Given the description of an element on the screen output the (x, y) to click on. 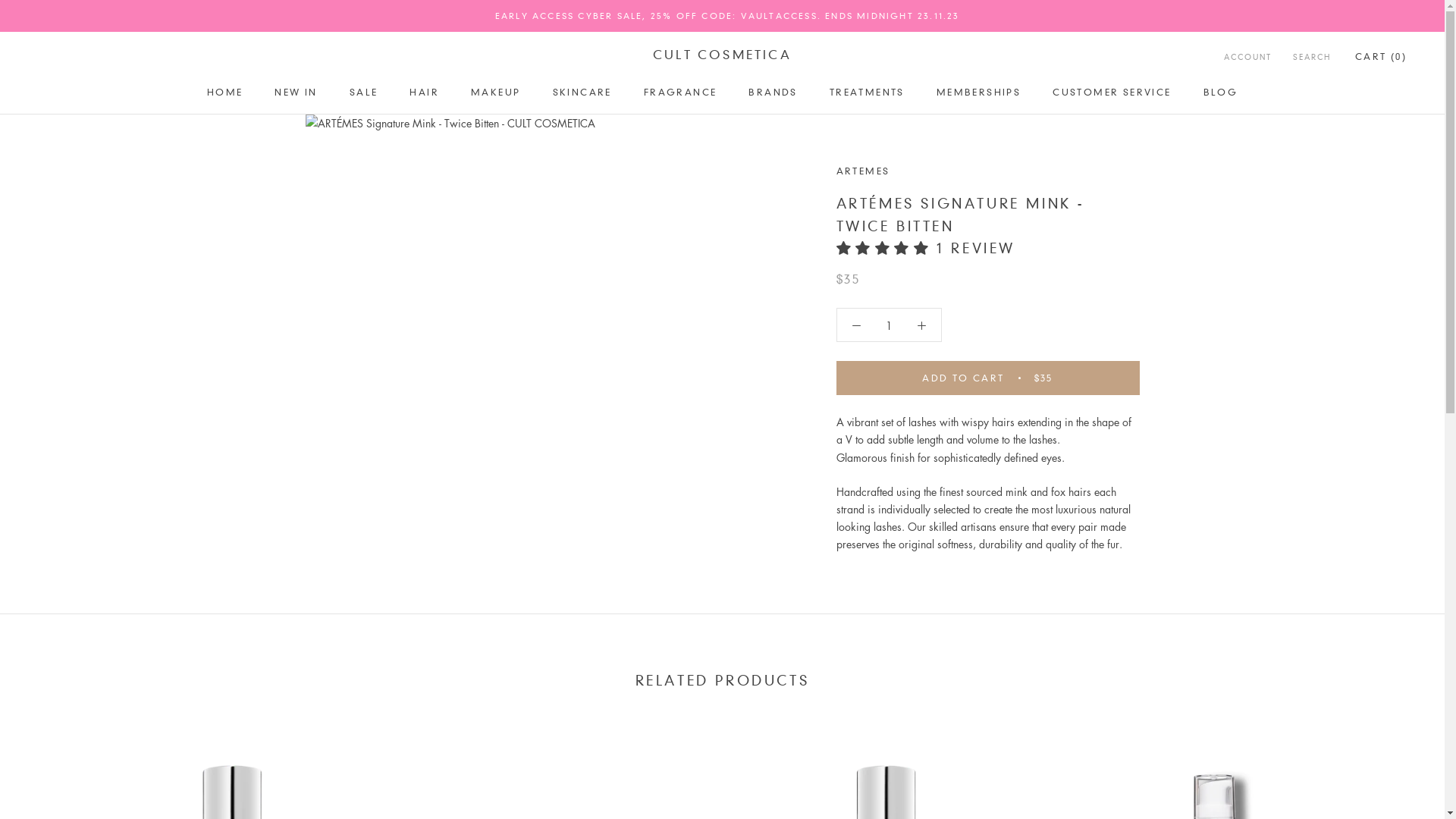
FRAGRANCE Element type: text (680, 91)
ADD TO CART
$35 Element type: text (987, 377)
CULT COSMETICA Element type: text (721, 55)
SALE
SALE Element type: text (363, 91)
CUSTOMER SERVICE Element type: text (1111, 91)
CART (0) Element type: text (1380, 56)
ACCOUNT Element type: text (1247, 57)
HOME
HOME Element type: text (225, 91)
MAKEUP
MAKEUP Element type: text (495, 91)
TREATMENTS Element type: text (866, 91)
SEARCH Element type: text (1311, 57)
SKINCARE
SKINCARE Element type: text (581, 91)
MEMBERSHIPS Element type: text (978, 91)
NEW IN
NEW IN Element type: text (295, 91)
BLOG
BLOG Element type: text (1220, 91)
HAIR
HAIR Element type: text (424, 91)
BRANDS
BRANDS Element type: text (772, 91)
